Given the description of an element on the screen output the (x, y) to click on. 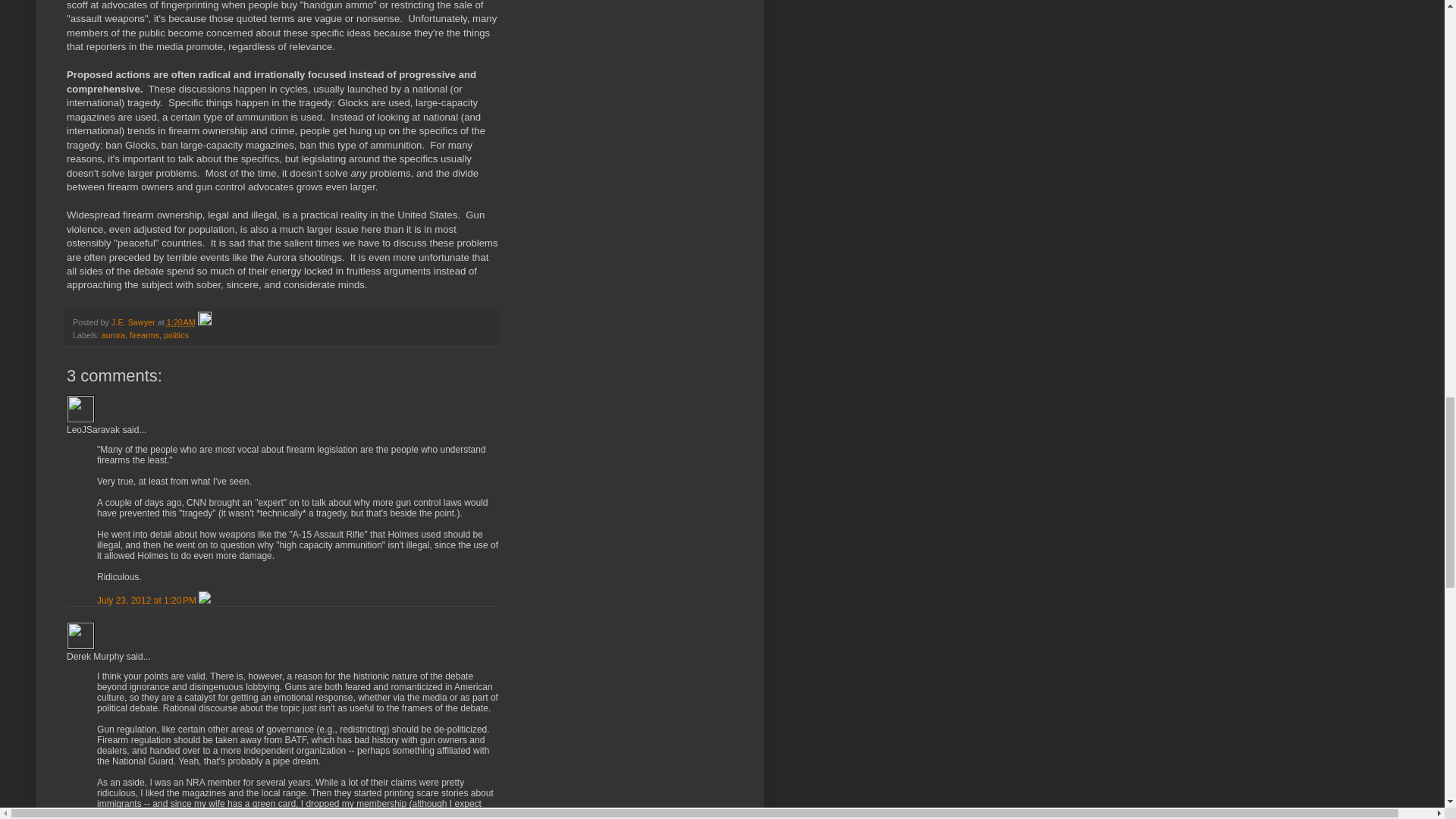
comment permalink (147, 599)
firearms (143, 334)
Edit Post (204, 321)
permanent link (181, 321)
Derek Murphy (80, 635)
aurora (113, 334)
politics (176, 334)
J.E. Sawyer (134, 321)
LeoJSaravak (80, 407)
Delete Comment (204, 599)
author profile (134, 321)
